Given the description of an element on the screen output the (x, y) to click on. 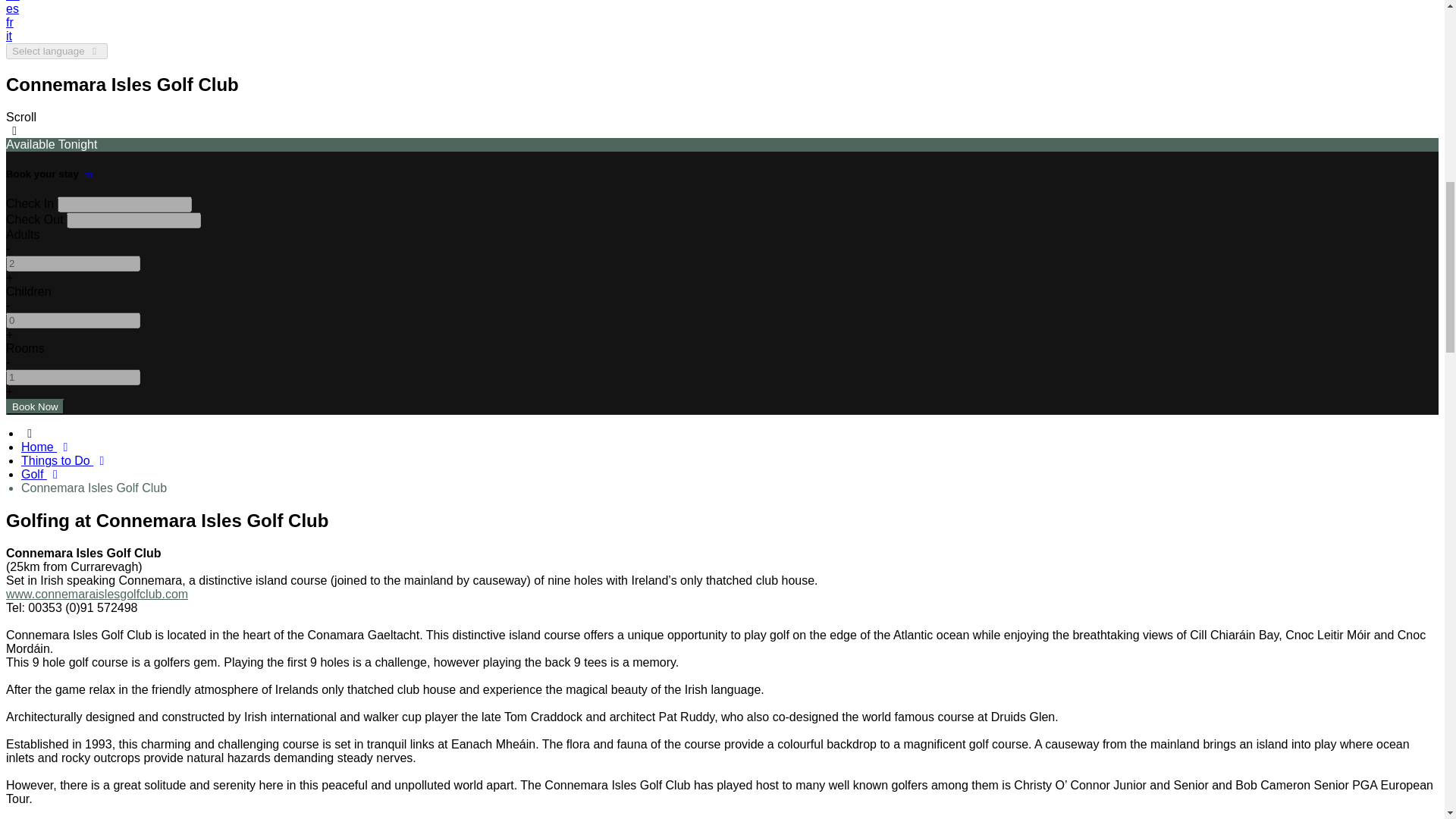
Book Now (34, 406)
0 (72, 320)
2 (72, 263)
1 (72, 376)
